Given the description of an element on the screen output the (x, y) to click on. 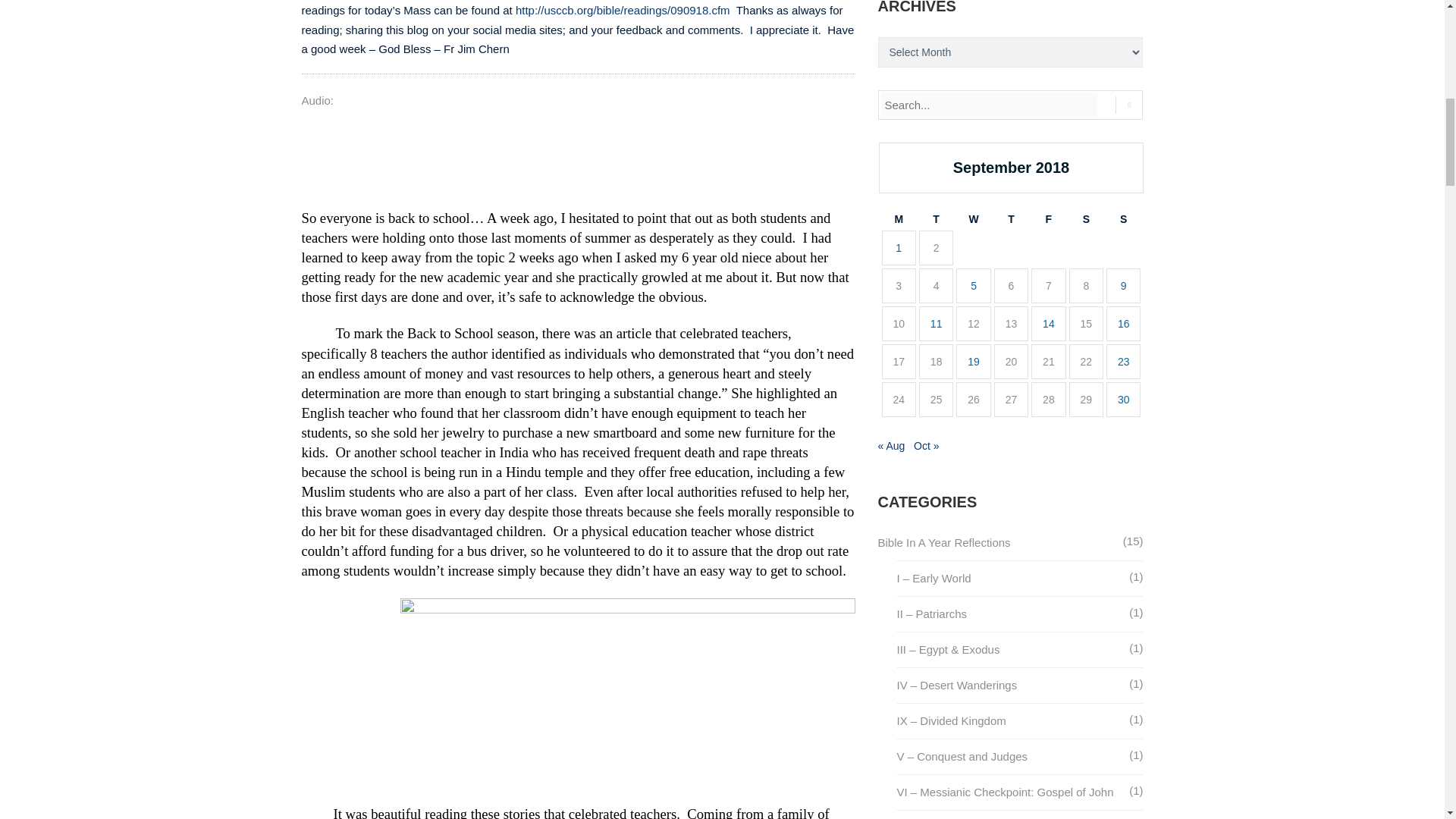
Sunday (1123, 219)
Wednesday (973, 219)
Monday (897, 219)
Saturday (1085, 219)
Tuesday (935, 219)
Friday (1047, 219)
Thursday (1010, 219)
